Given the description of an element on the screen output the (x, y) to click on. 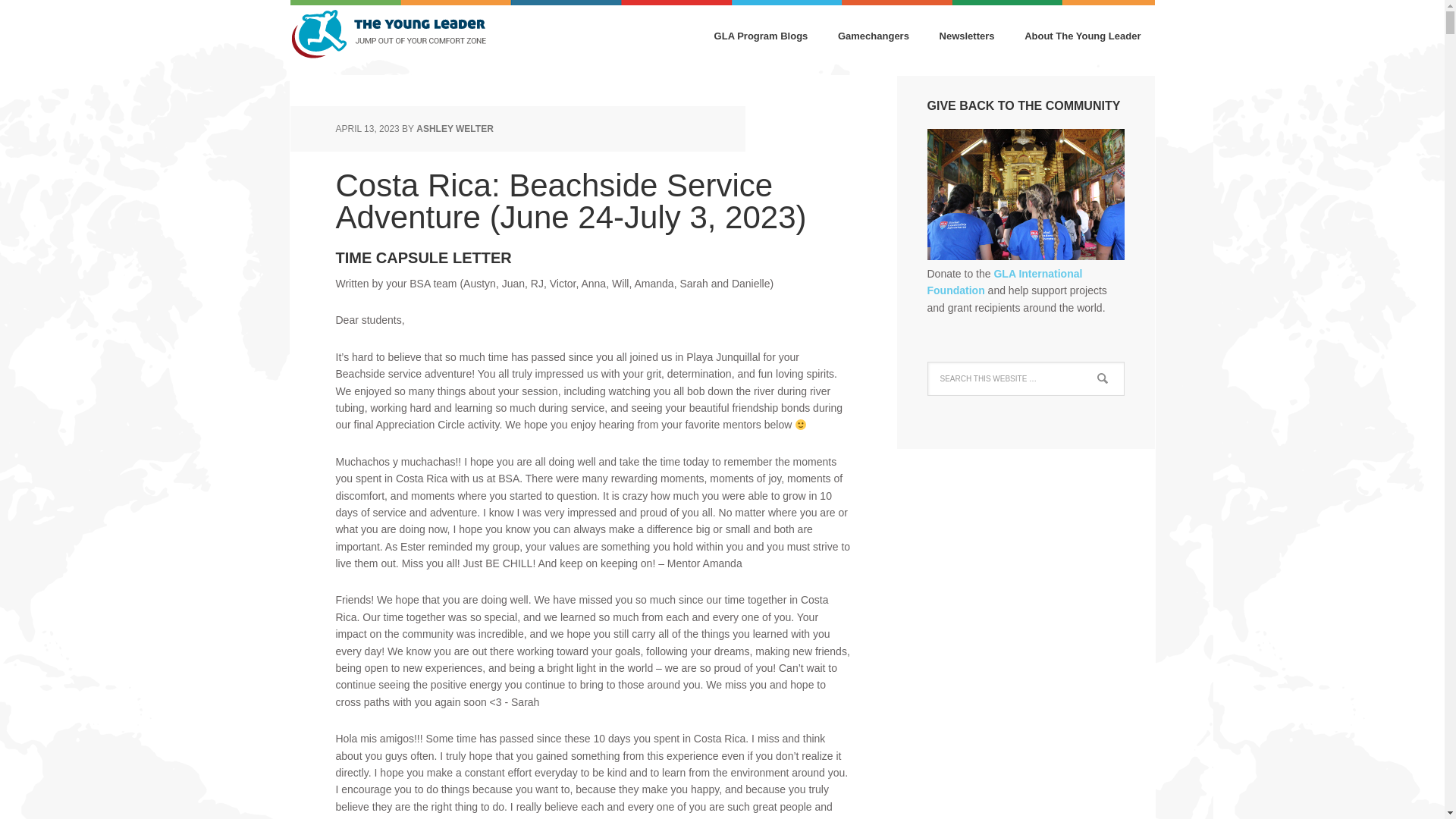
Newsletters (967, 37)
GLA Program Blogs (761, 37)
Gamechangers (873, 37)
ASHLEY WELTER (454, 128)
GLA International Foundation (1003, 281)
About The Young Leader (1082, 37)
The Young Leader (387, 38)
